Given the description of an element on the screen output the (x, y) to click on. 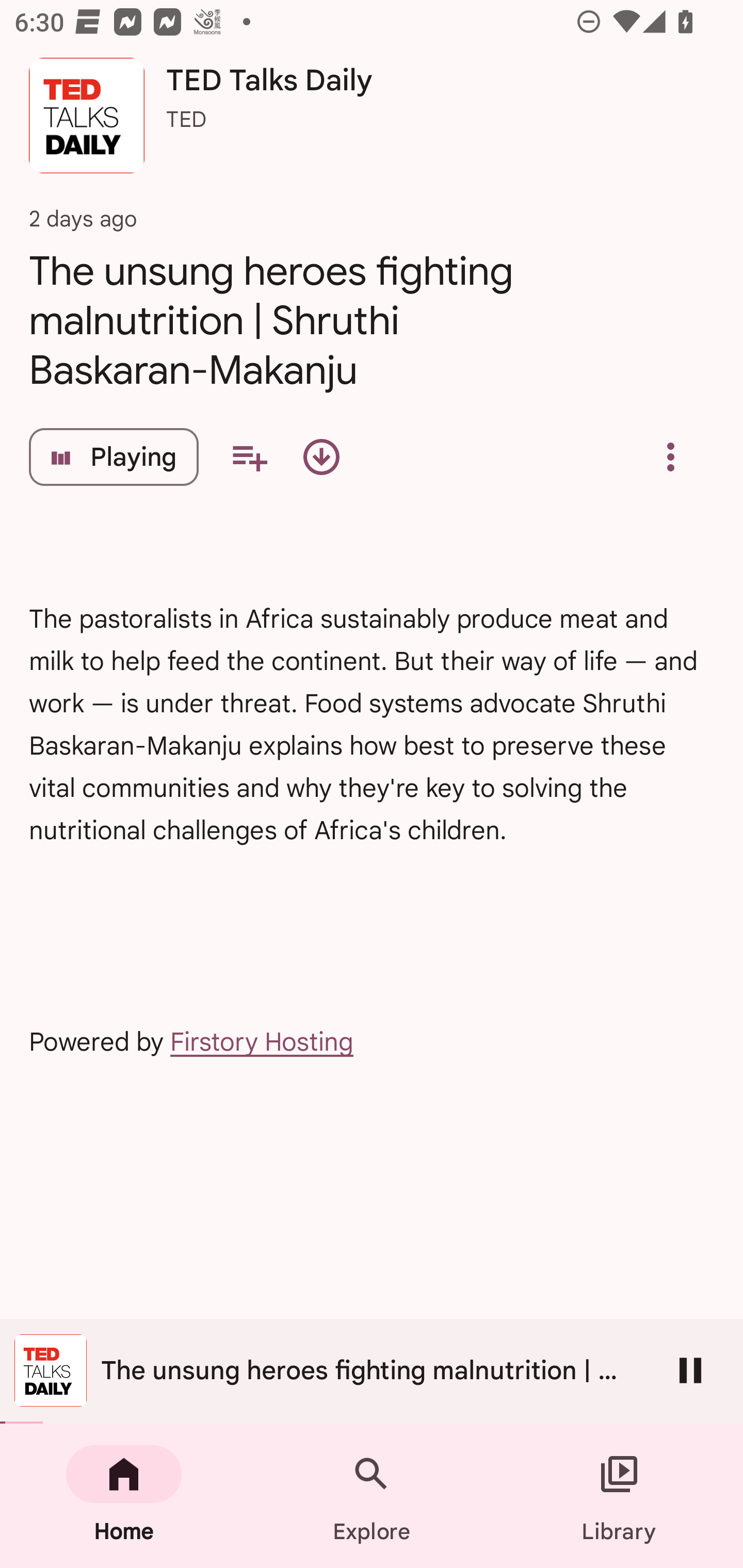
TED Talks Daily TED Talks Daily TED (371, 122)
Add to your queue (249, 456)
Download episode (321, 456)
Overflow menu (670, 456)
Pause (690, 1370)
Explore (371, 1495)
Library (619, 1495)
